Given the description of an element on the screen output the (x, y) to click on. 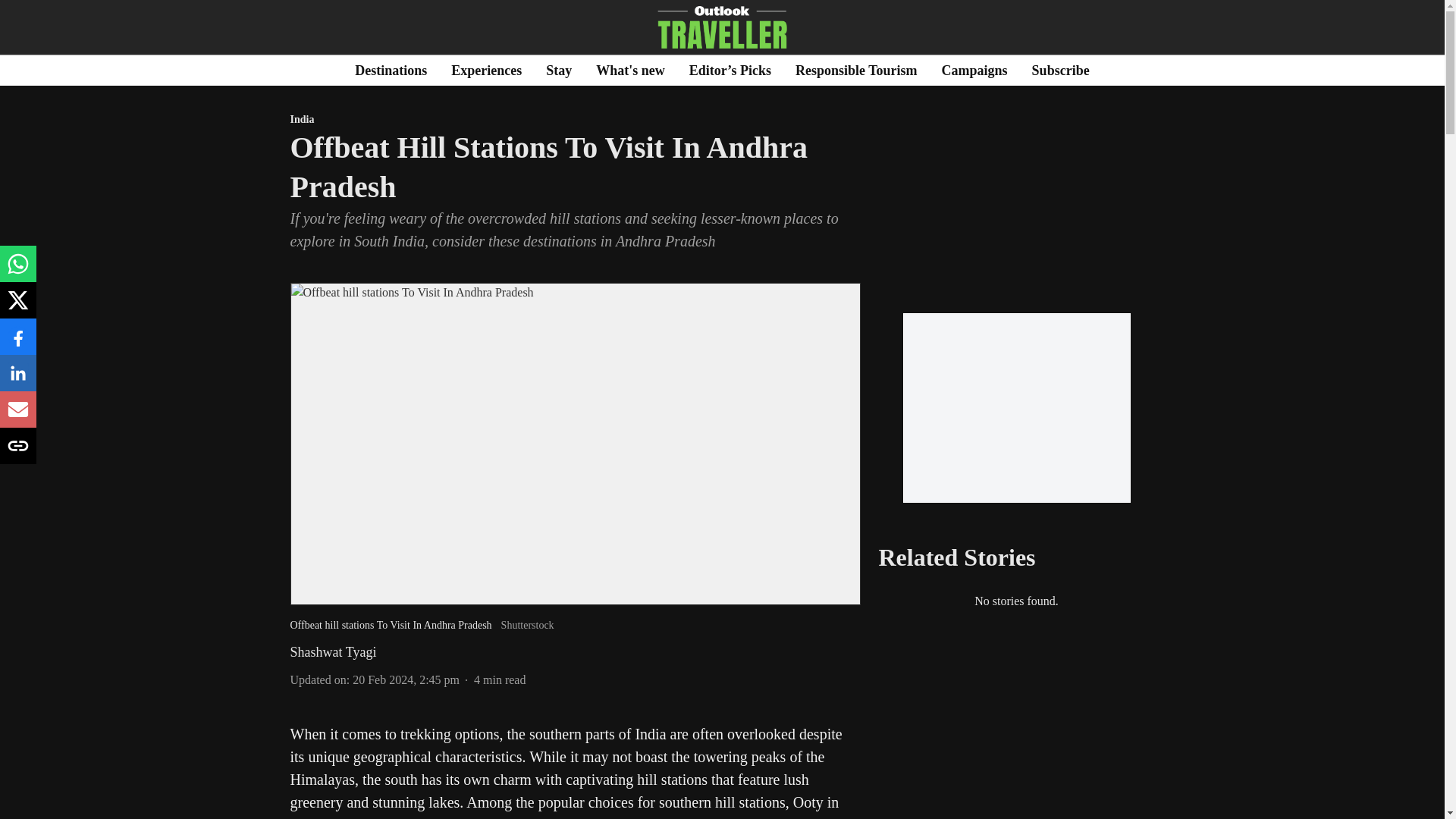
Shashwat Tyagi (332, 652)
Stay (559, 70)
Destinations (390, 70)
Subscribe (1060, 70)
What's new (630, 70)
Experiences (486, 70)
India (574, 119)
Responsible Tourism (855, 70)
